Given the description of an element on the screen output the (x, y) to click on. 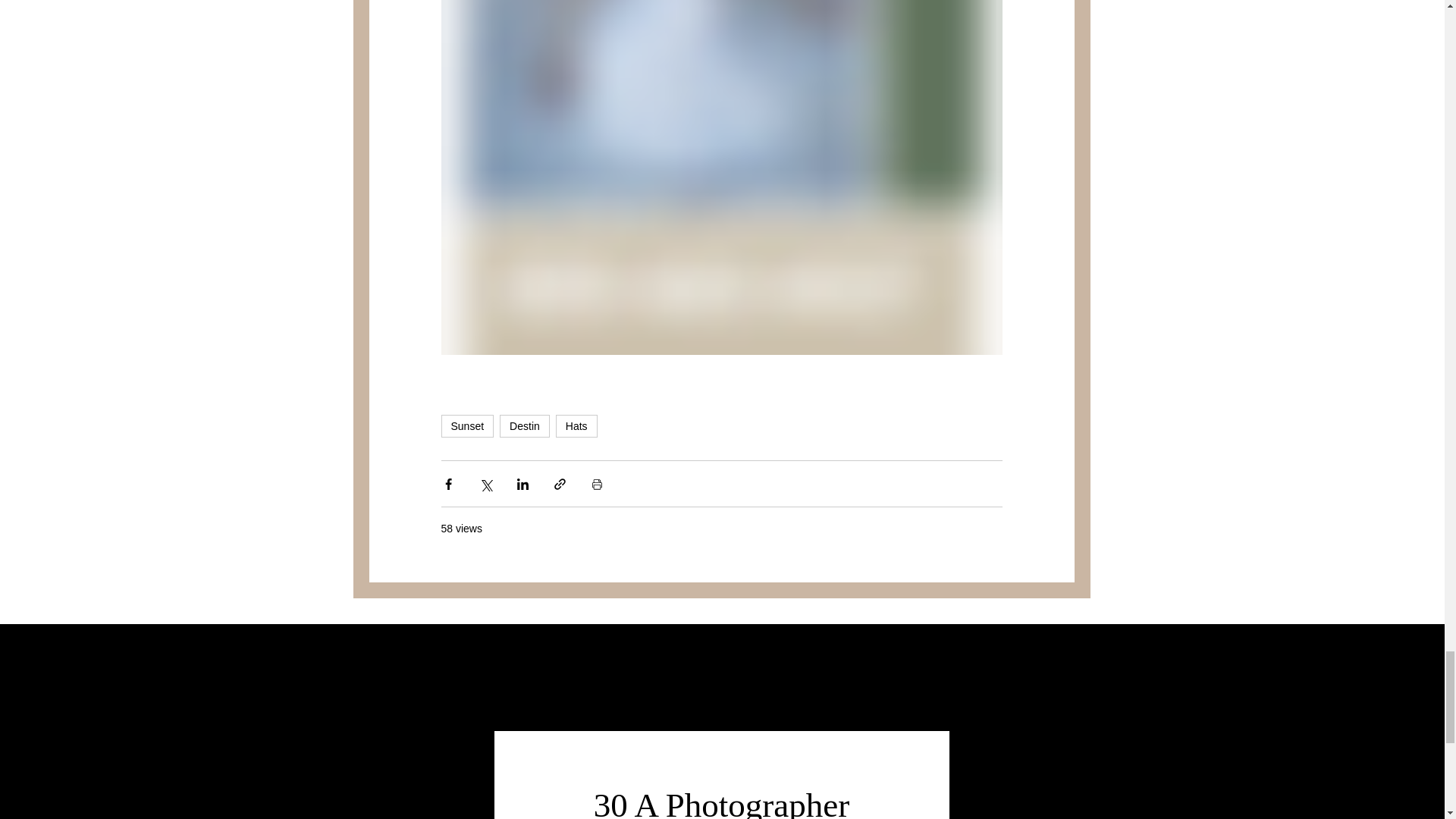
Hats (576, 425)
Destin (524, 425)
Sunset (468, 425)
